Given the description of an element on the screen output the (x, y) to click on. 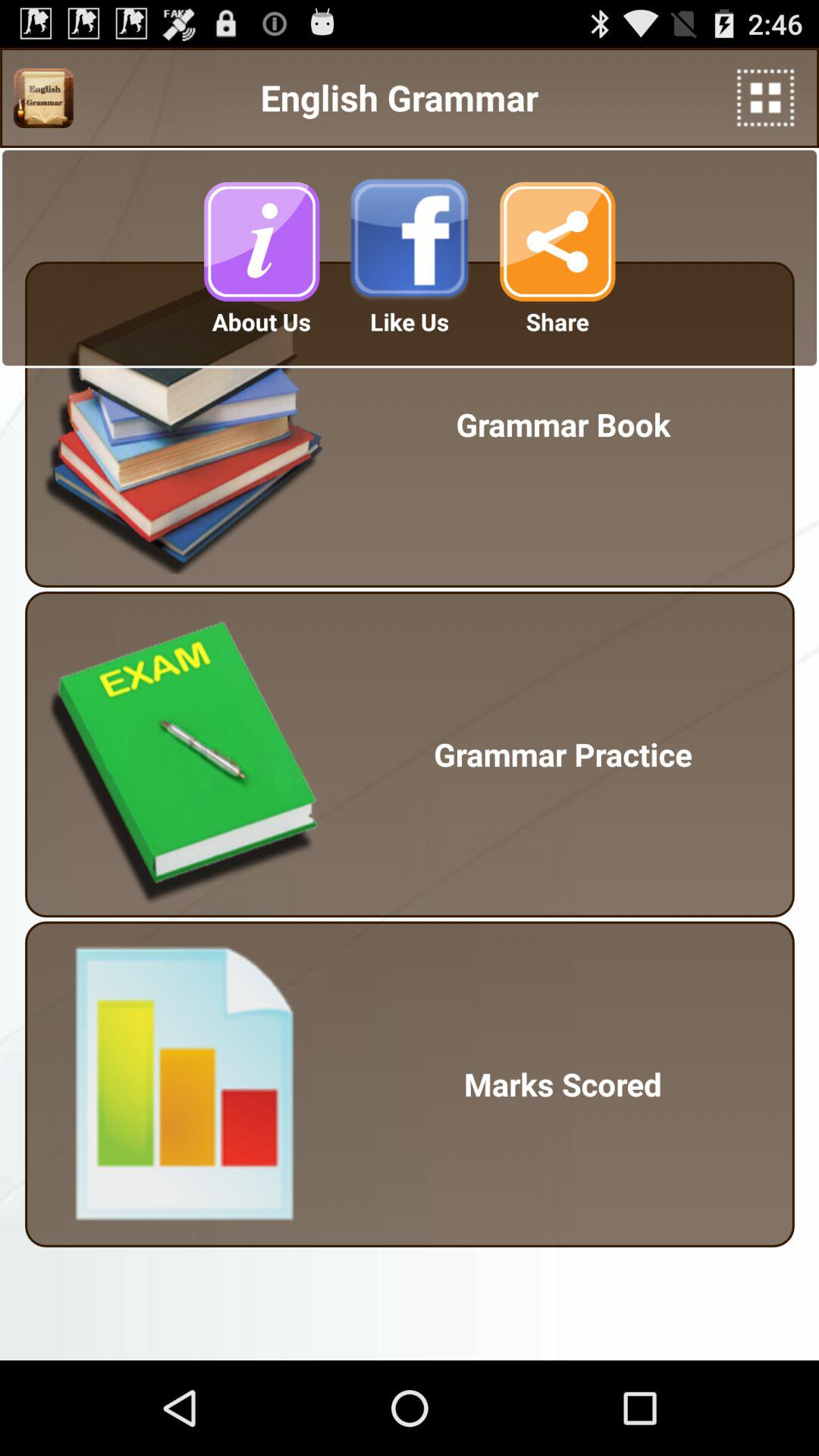
go facebook (409, 241)
